Given the description of an element on the screen output the (x, y) to click on. 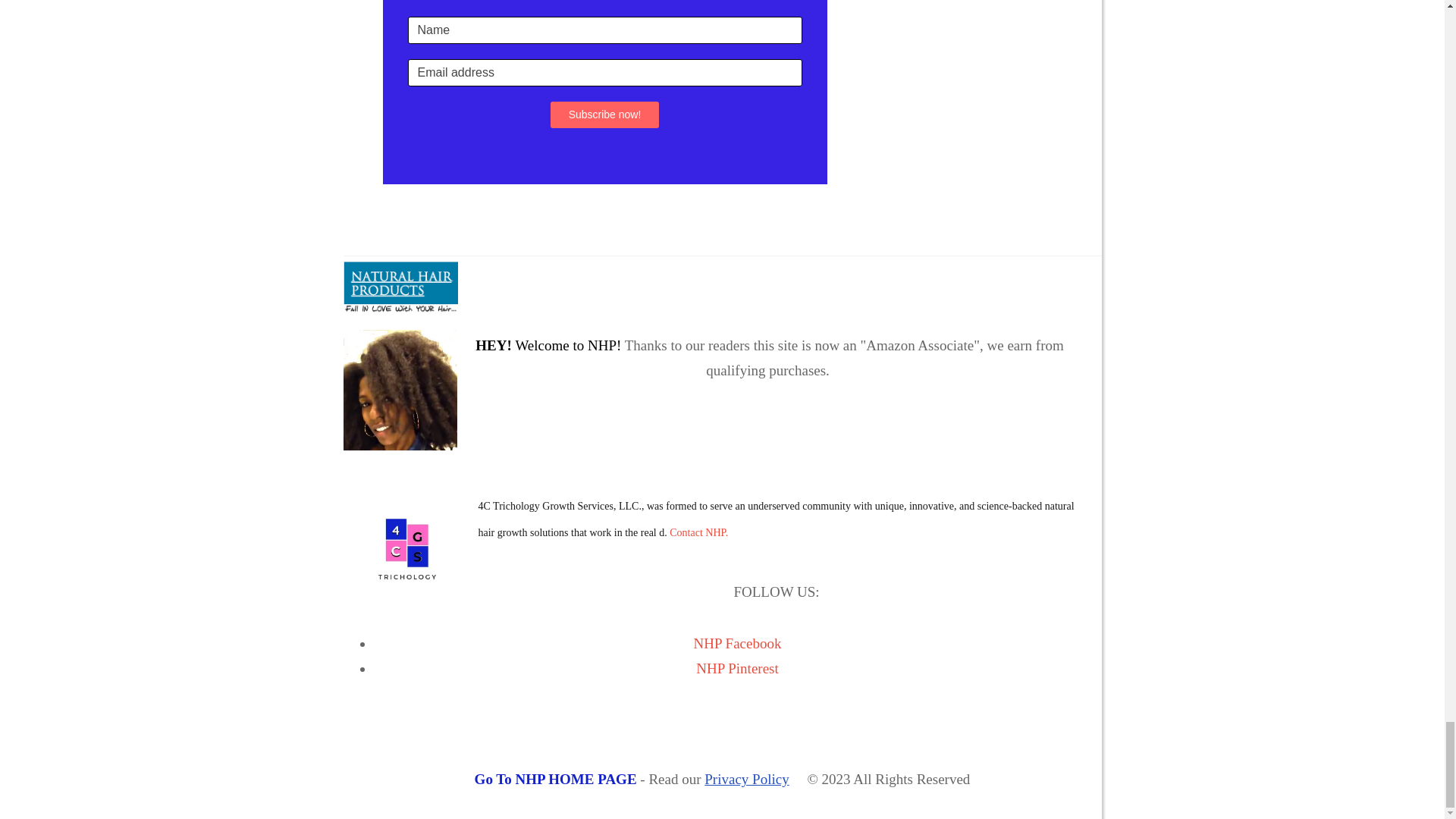
Subscribe now! (604, 114)
Email address (604, 72)
Subscribe now! (604, 114)
Contact NHP. (698, 532)
Name (604, 30)
